Given the description of an element on the screen output the (x, y) to click on. 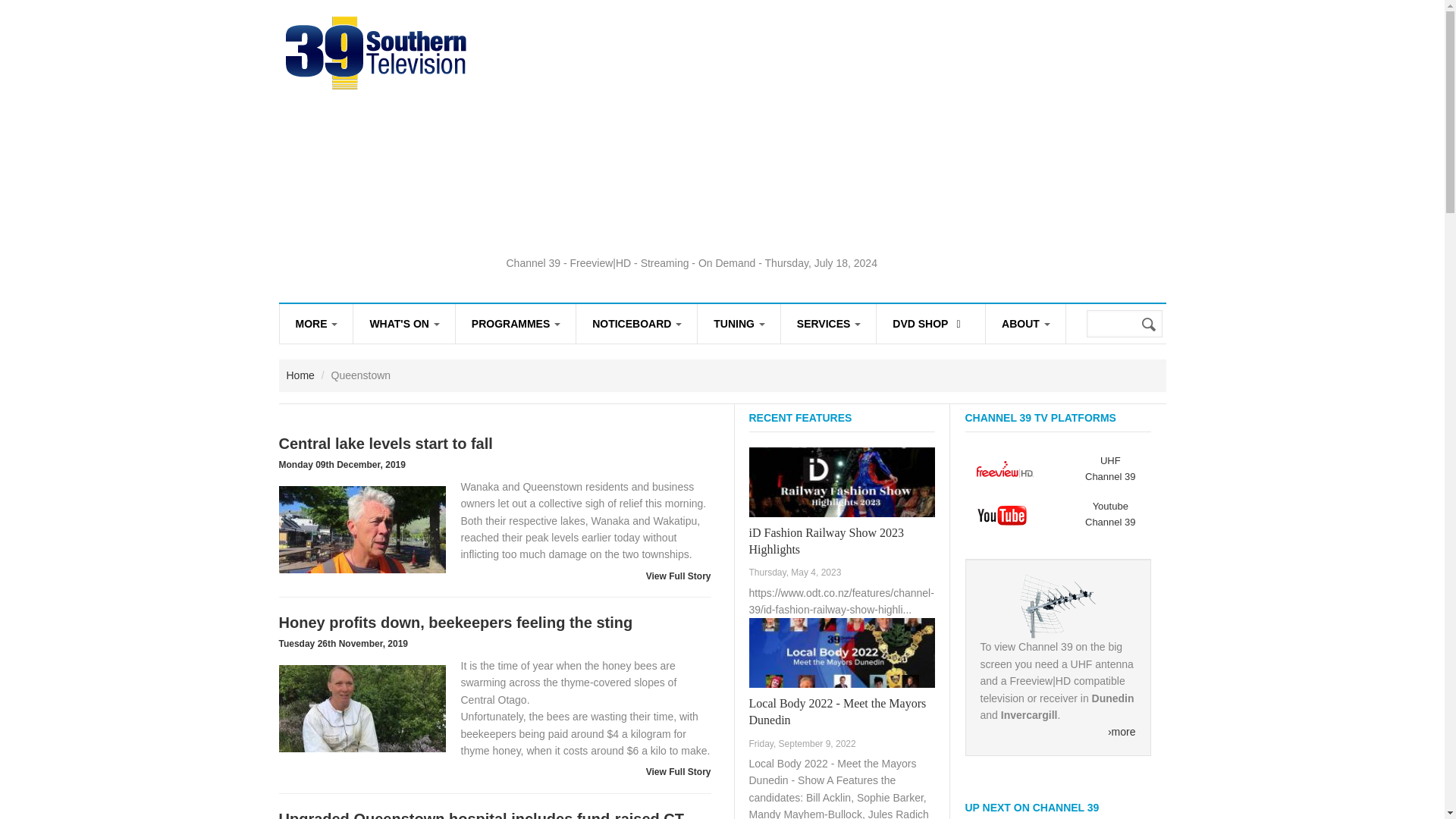
WHAT'S ON (403, 323)
Search (1149, 324)
Home (376, 50)
Enter the terms you wish to search for. (1123, 323)
MORE (315, 323)
PROGRAMMES (515, 323)
Central lake levels start to fall (362, 529)
